Given the description of an element on the screen output the (x, y) to click on. 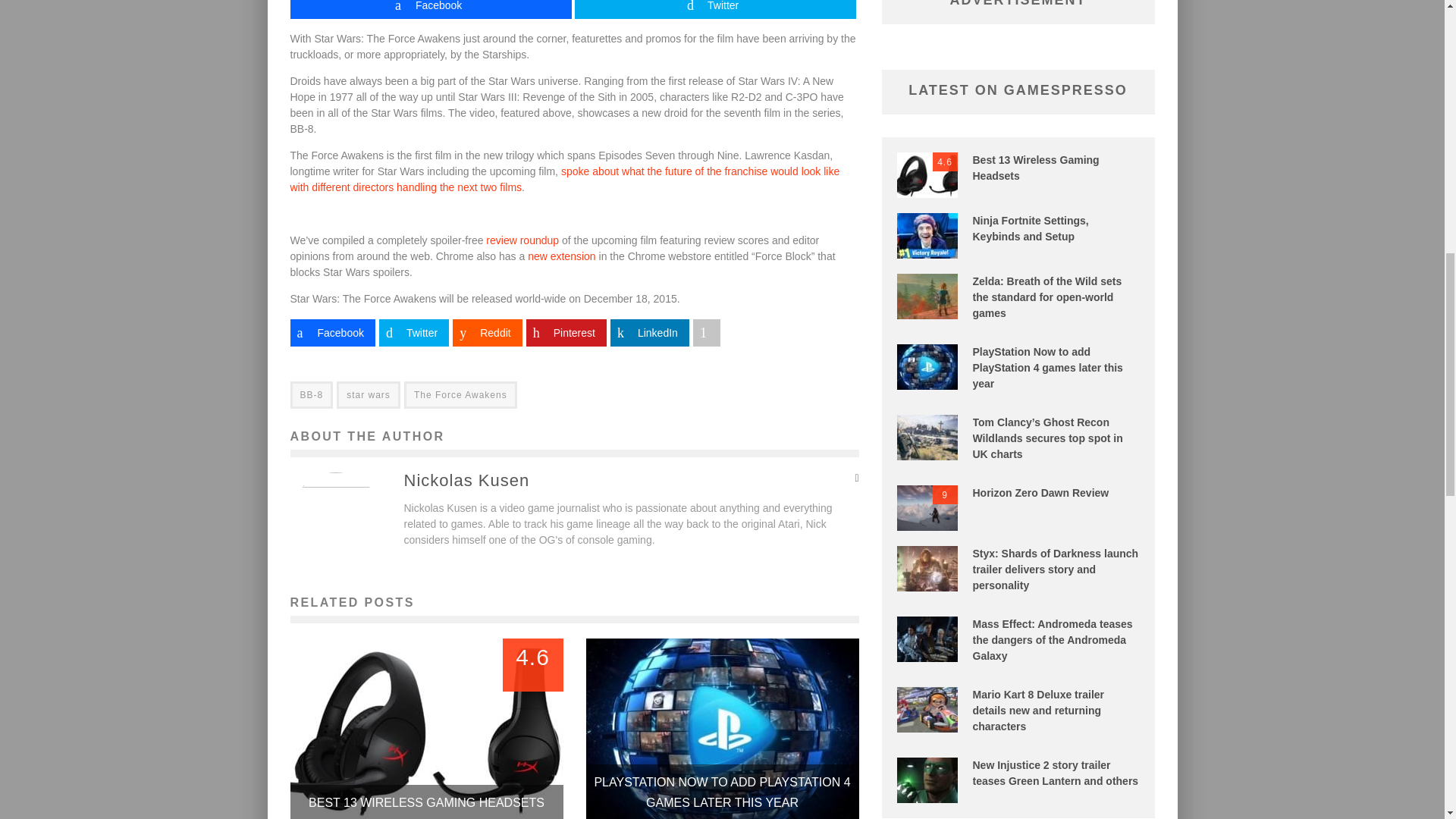
Share on Twitter (413, 332)
Share on More Button (706, 332)
Share on Facebook (429, 9)
Share on Pinterest (566, 332)
Share on Reddit (486, 332)
Share on LinkedIn (649, 332)
Share on Facebook (331, 332)
Share on Twitter (715, 9)
